Given the description of an element on the screen output the (x, y) to click on. 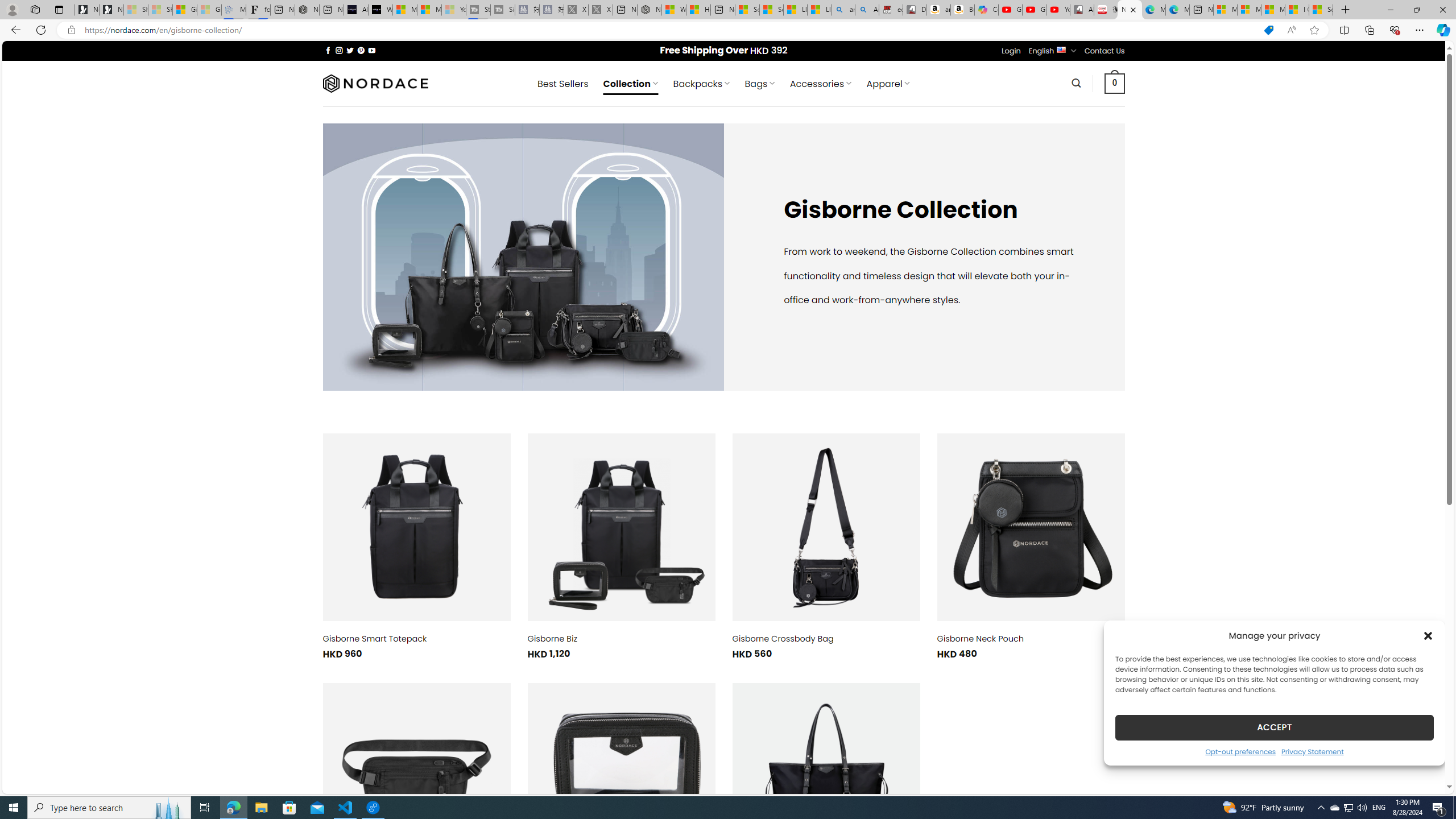
Copilot (986, 9)
amazon.in/dp/B0CX59H5W7/?tag=gsmcom05-21 (938, 9)
